Given the description of an element on the screen output the (x, y) to click on. 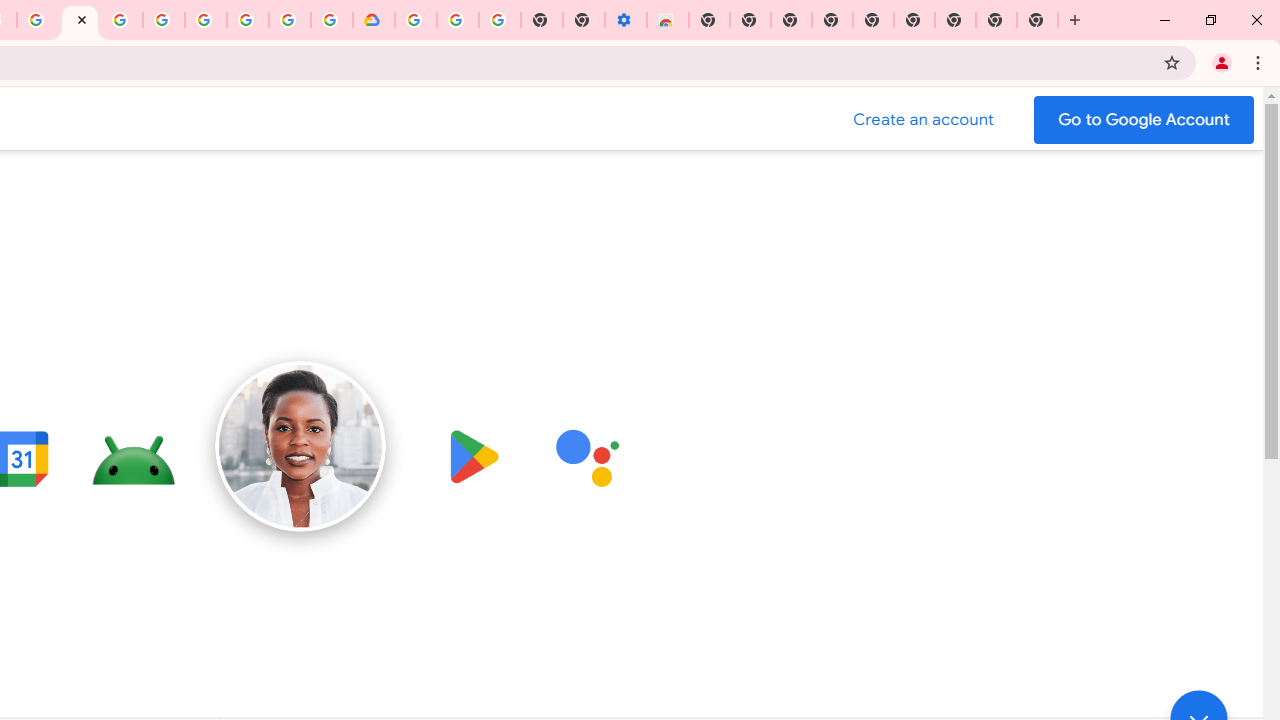
Turn cookies on or off - Computer - Google Account Help (499, 20)
Create your Google Account (289, 20)
Settings - Accessibility (625, 20)
New Tab (1037, 20)
Chrome Web Store - Accessibility extensions (667, 20)
Google Account Help (457, 20)
Sign in - Google Accounts (415, 20)
